Given the description of an element on the screen output the (x, y) to click on. 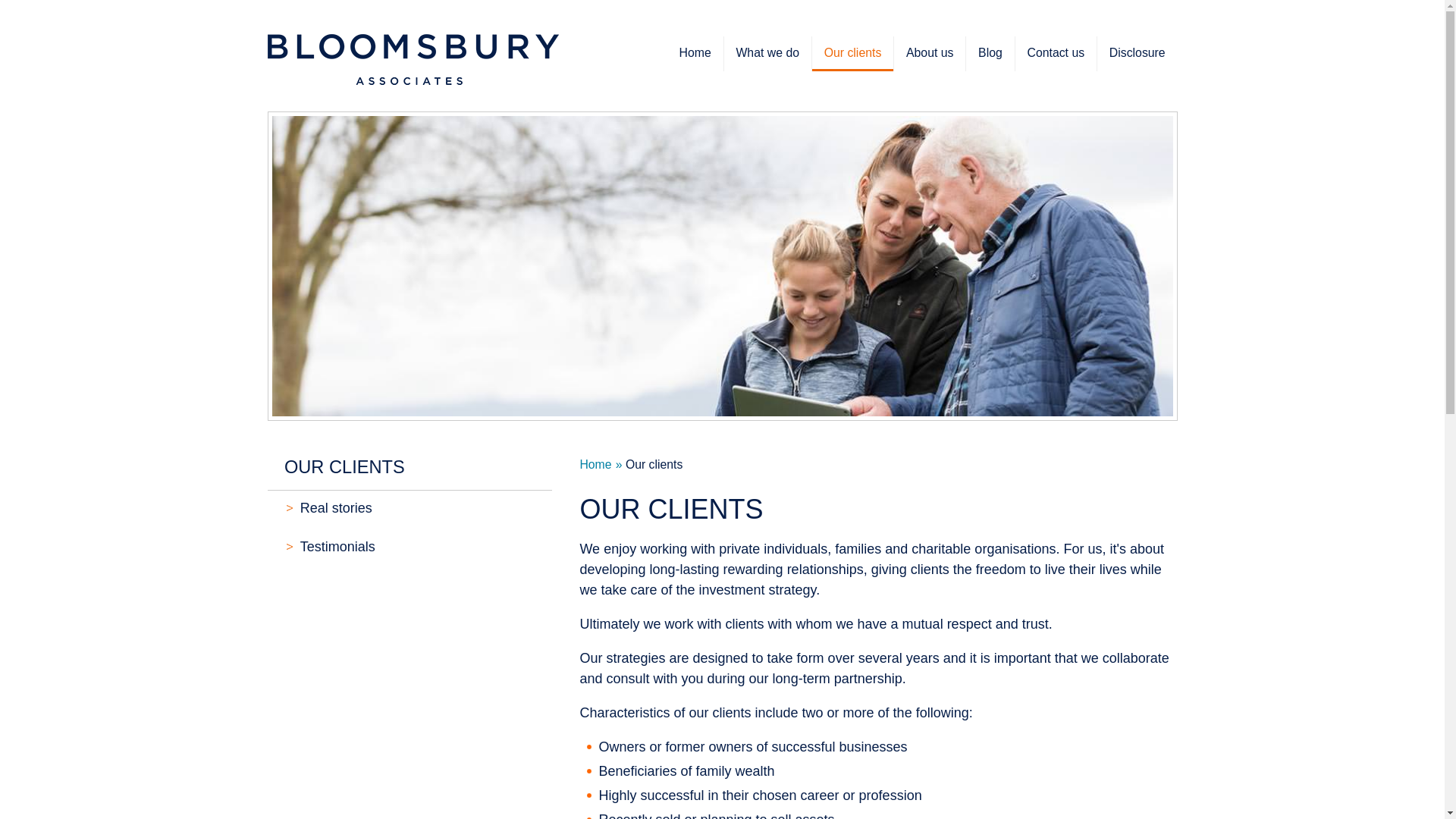
Testimonials (408, 547)
Our clients (852, 53)
About us (929, 53)
Blog (989, 53)
Real stories (408, 509)
Contact us (1055, 53)
Home (694, 53)
Disclosure (1137, 53)
What we do (766, 53)
